Given the description of an element on the screen output the (x, y) to click on. 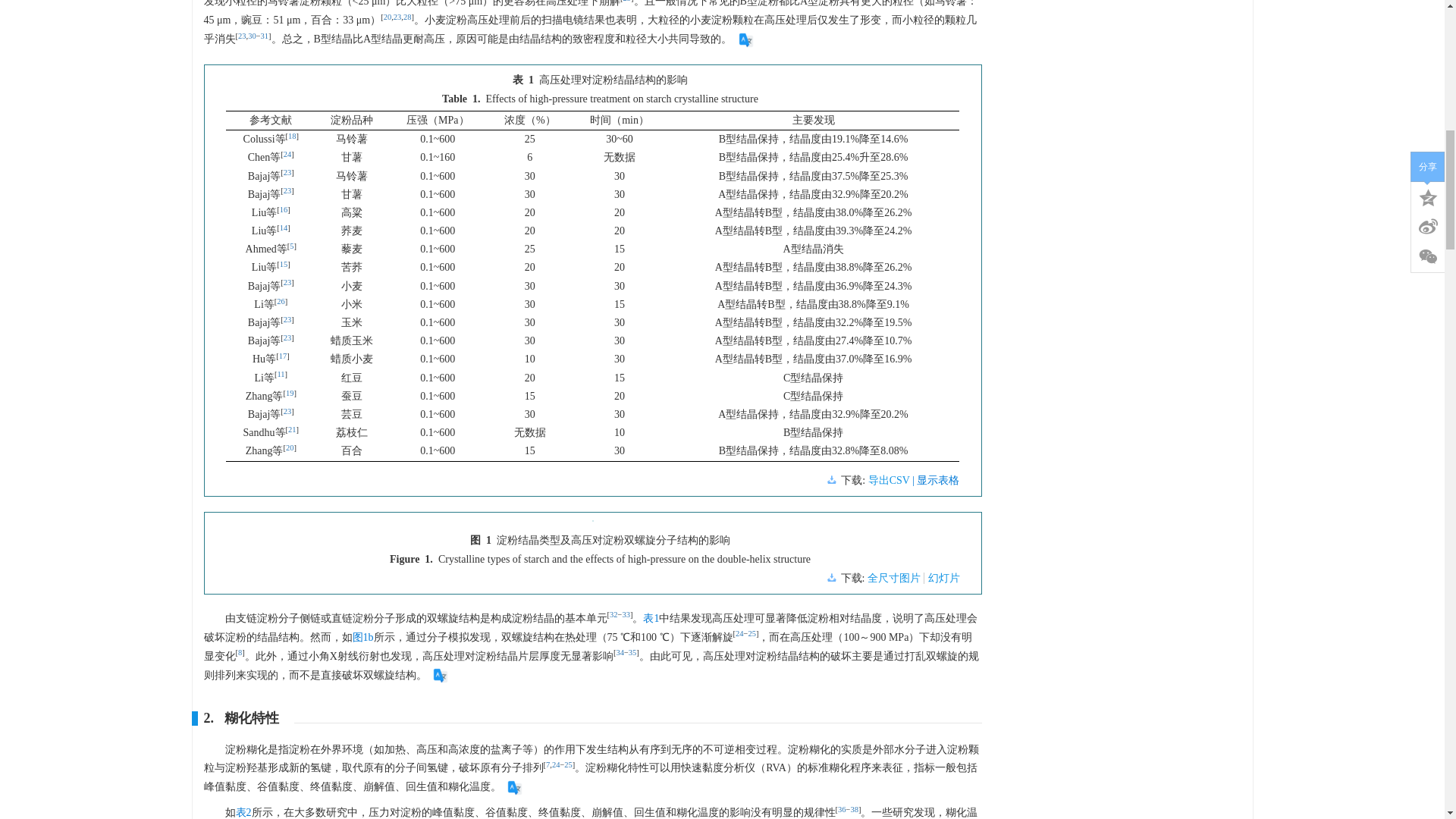
Translate this paragraph (746, 39)
Translate this paragraph (514, 787)
Translate this paragraph (440, 675)
